Given the description of an element on the screen output the (x, y) to click on. 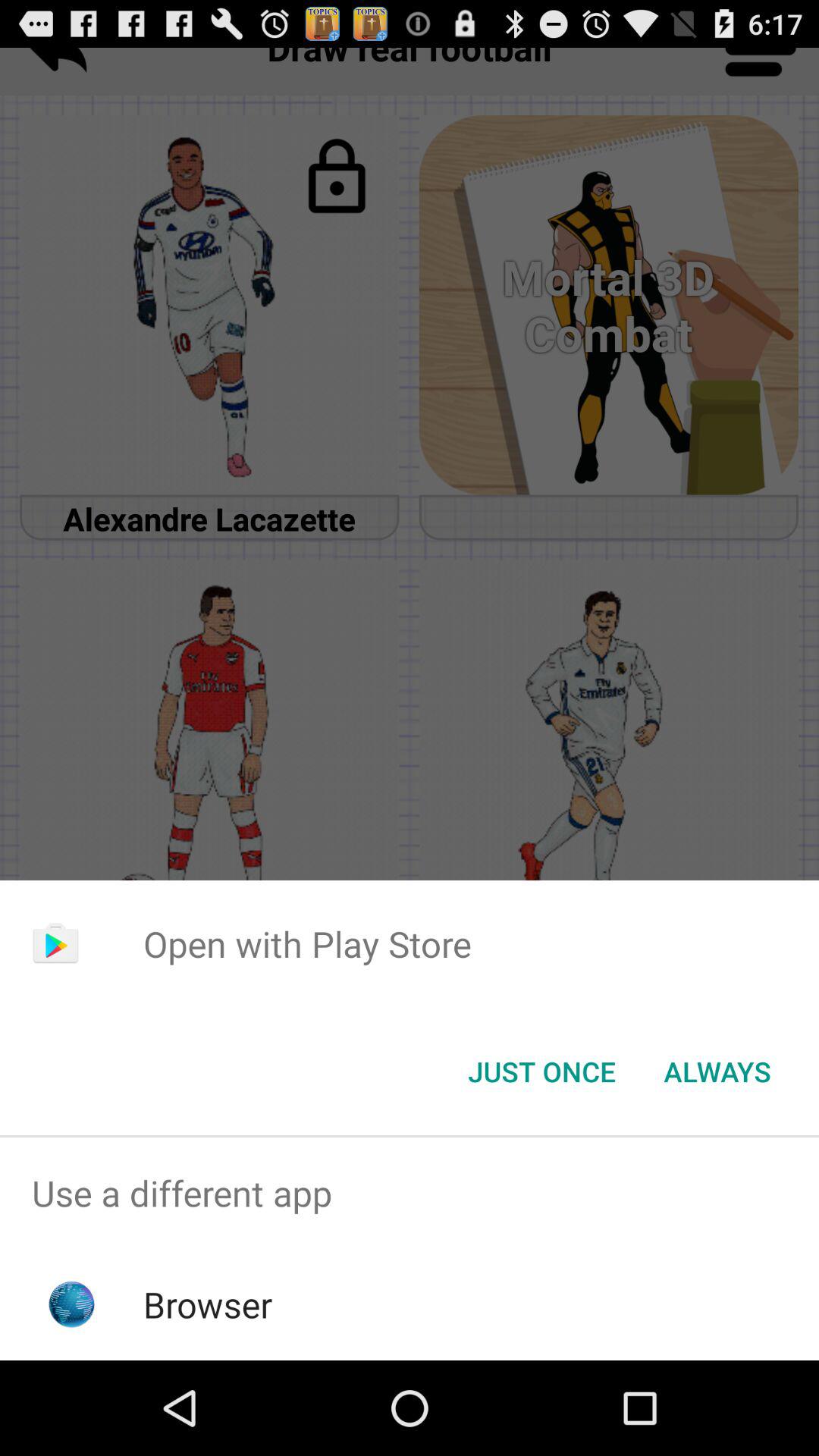
launch the icon above the browser item (409, 1192)
